Given the description of an element on the screen output the (x, y) to click on. 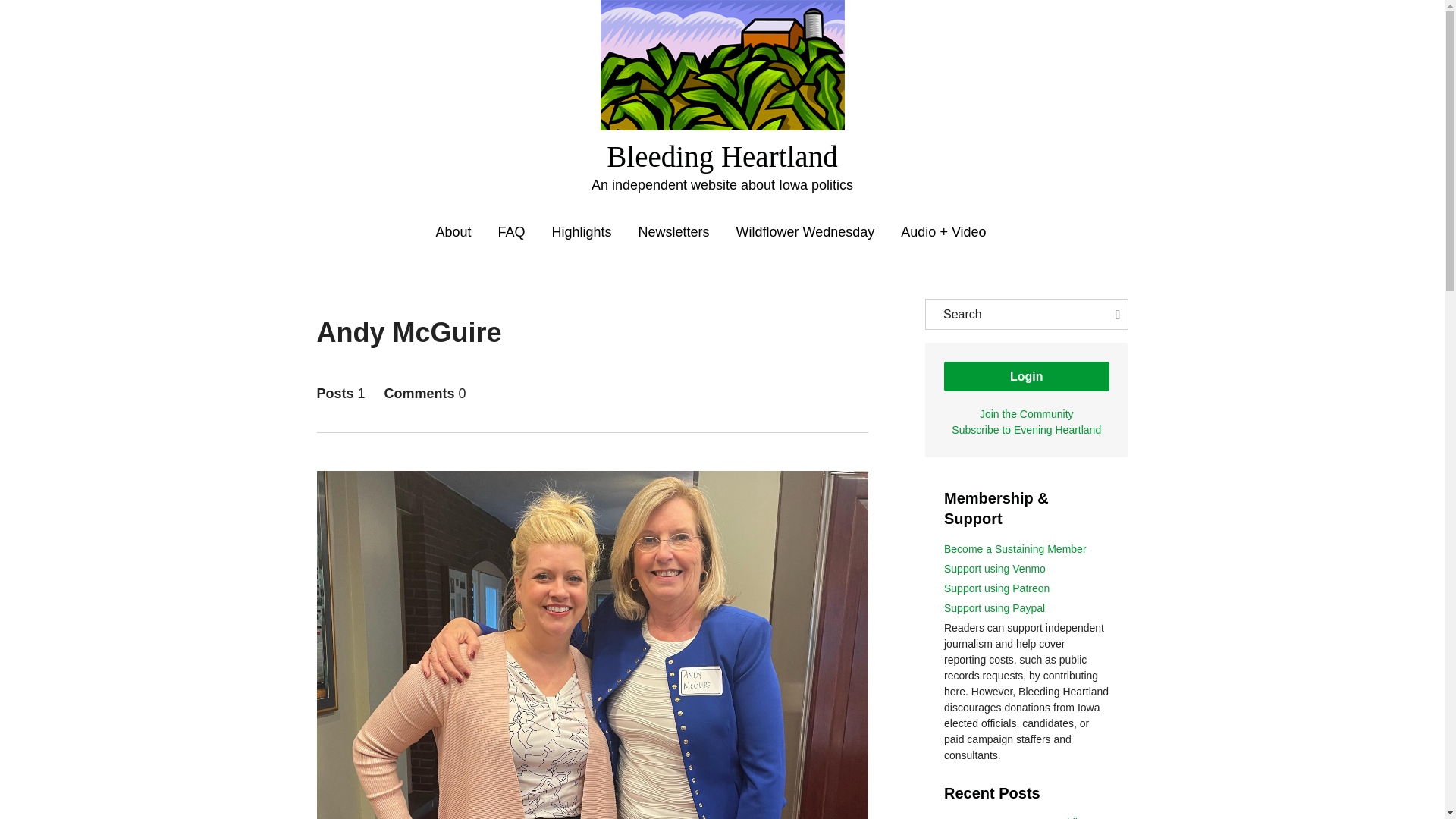
Highlights (581, 231)
Subscribe to Evening Heartland (1026, 429)
Iowa Republicans jump on Olympic rage bandwagon (1024, 817)
About (452, 231)
Support using Patreon (996, 588)
Join the Community (1026, 413)
Login (1026, 376)
FAQ (510, 231)
Newsletters (674, 231)
Wildflower Wednesday (805, 231)
